Given the description of an element on the screen output the (x, y) to click on. 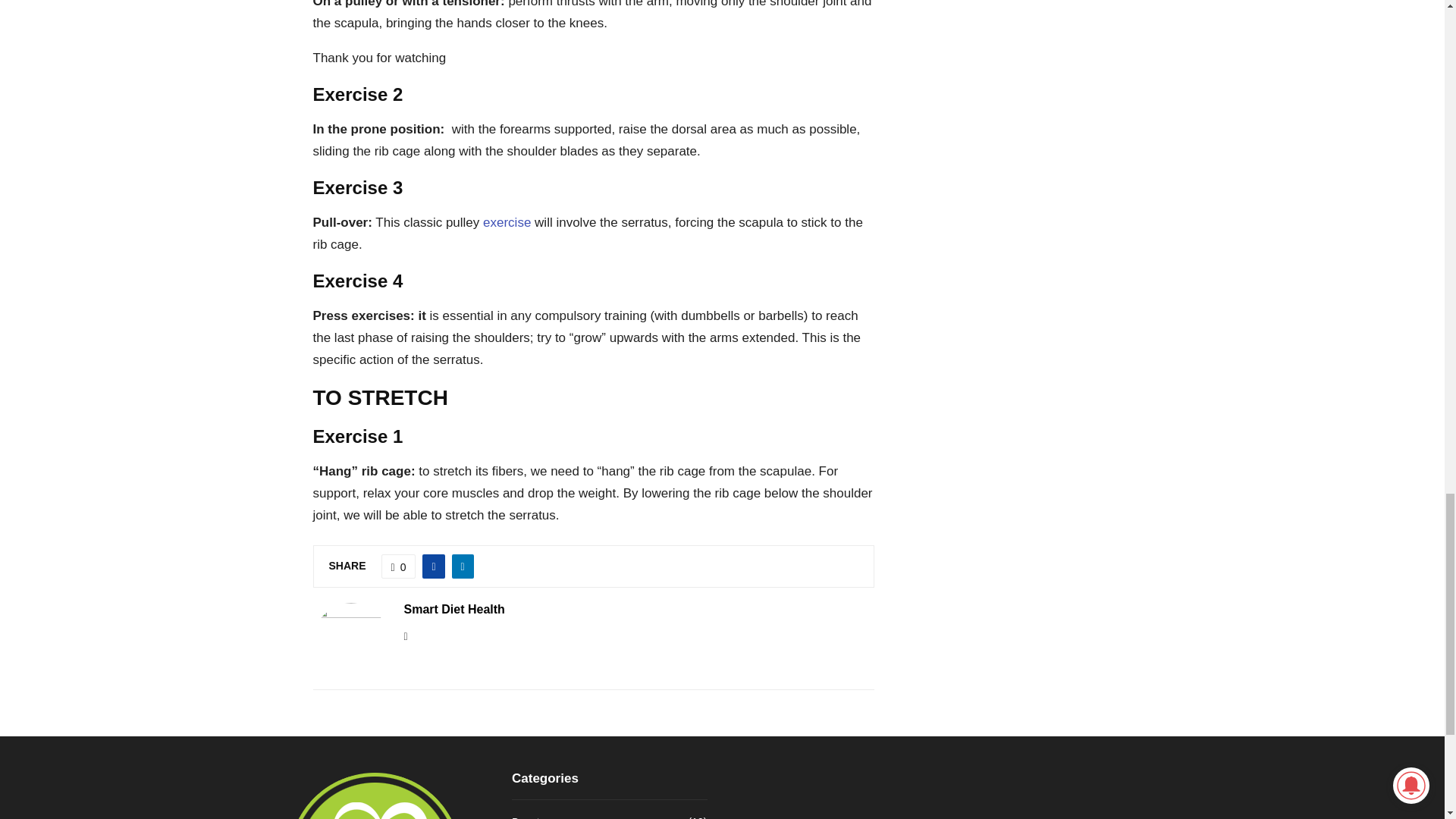
Like (398, 566)
0 (398, 566)
exercise (507, 222)
